Given the description of an element on the screen output the (x, y) to click on. 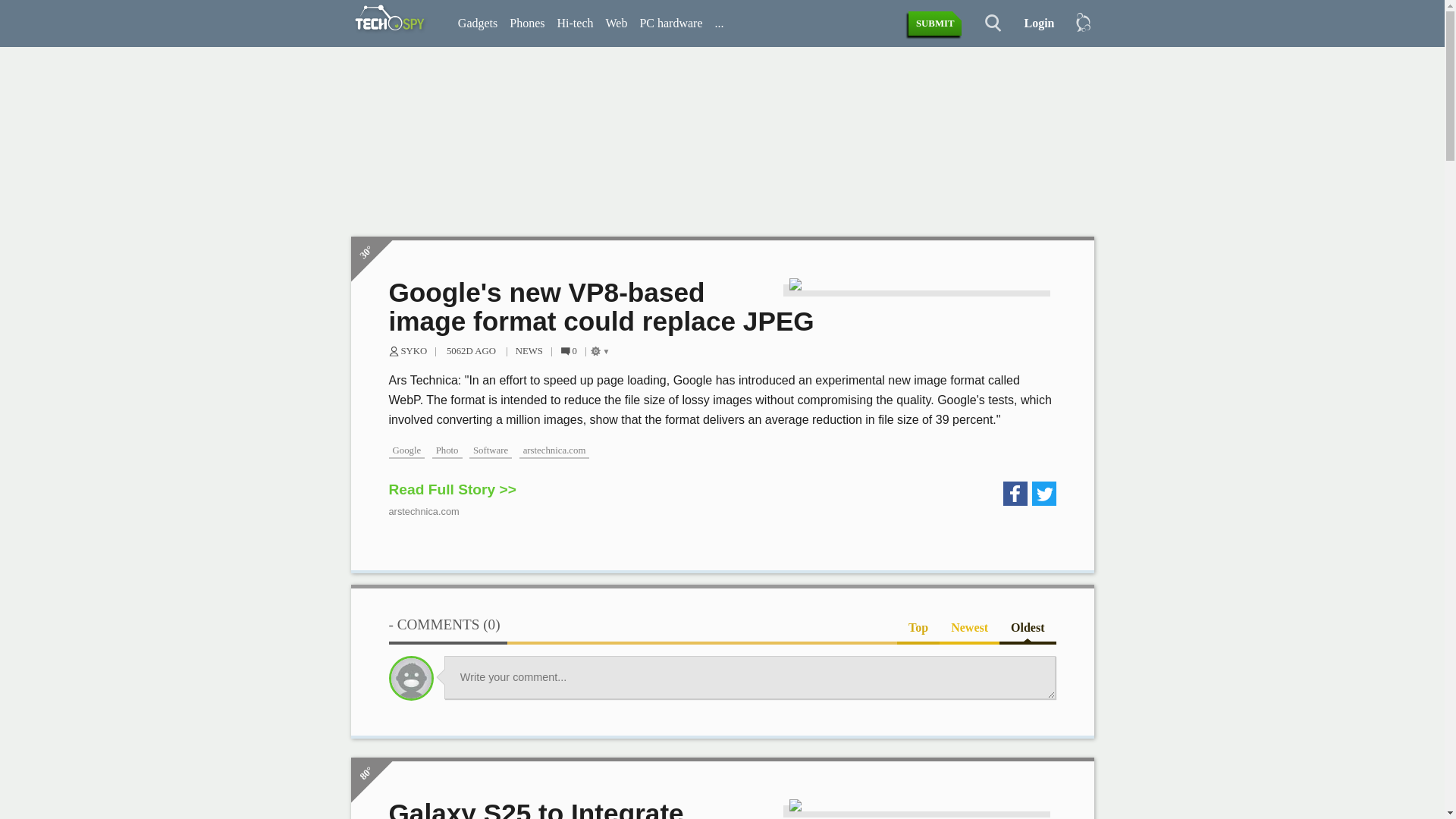
Gadgets (477, 24)
Web (615, 24)
Search (984, 23)
SUBMIT (935, 23)
Phones (526, 24)
Hi-tech (574, 24)
PC hardware (670, 24)
Login (1033, 23)
